Given the description of an element on the screen output the (x, y) to click on. 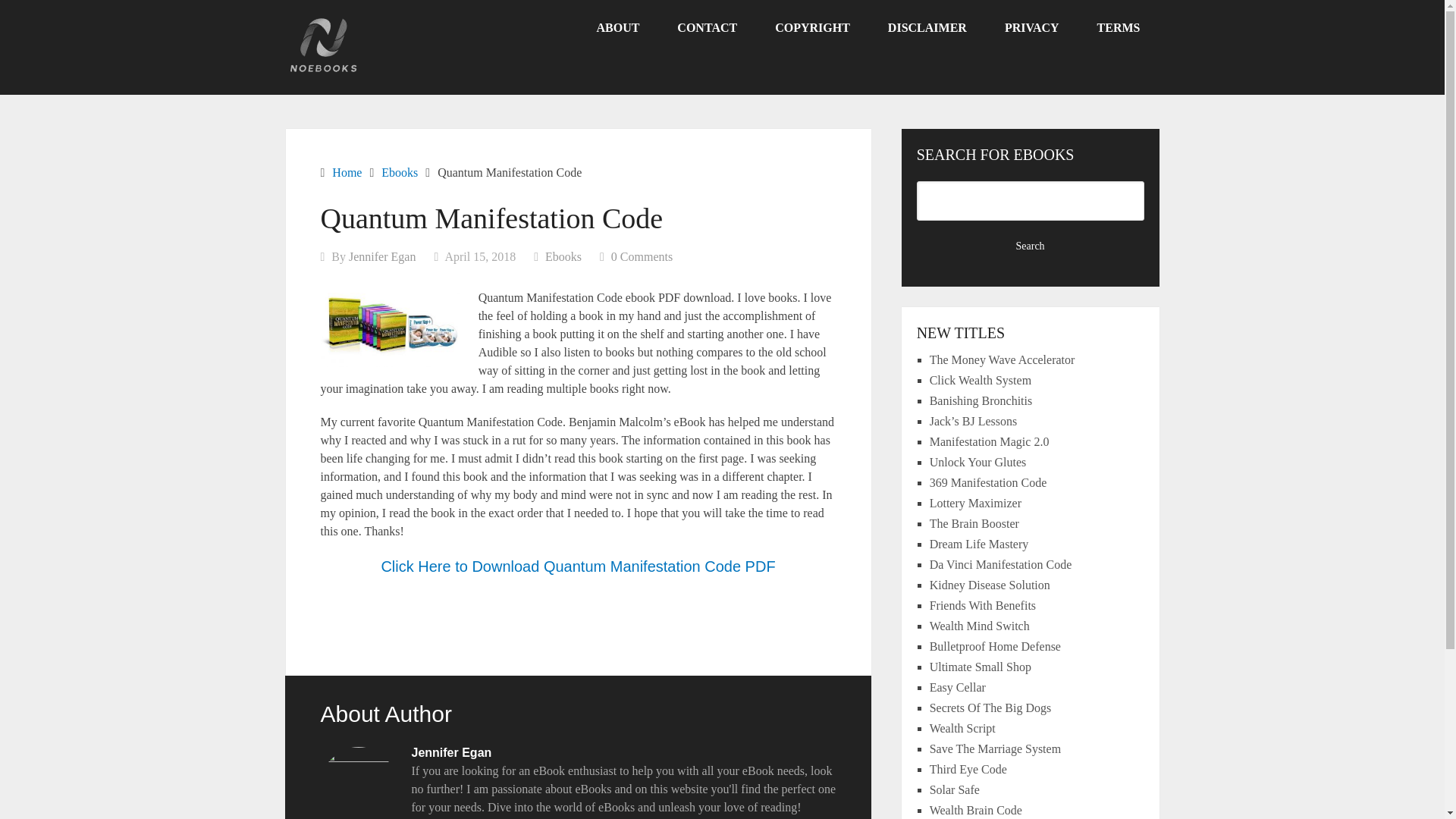
Posts by Jennifer Egan (381, 256)
Home (346, 172)
Easy Cellar (957, 686)
Search (1030, 246)
Dream Life Mastery (979, 543)
The Brain Booster (974, 522)
Solar Safe (954, 789)
COPYRIGHT (812, 28)
Save The Marriage System (995, 748)
